Given the description of an element on the screen output the (x, y) to click on. 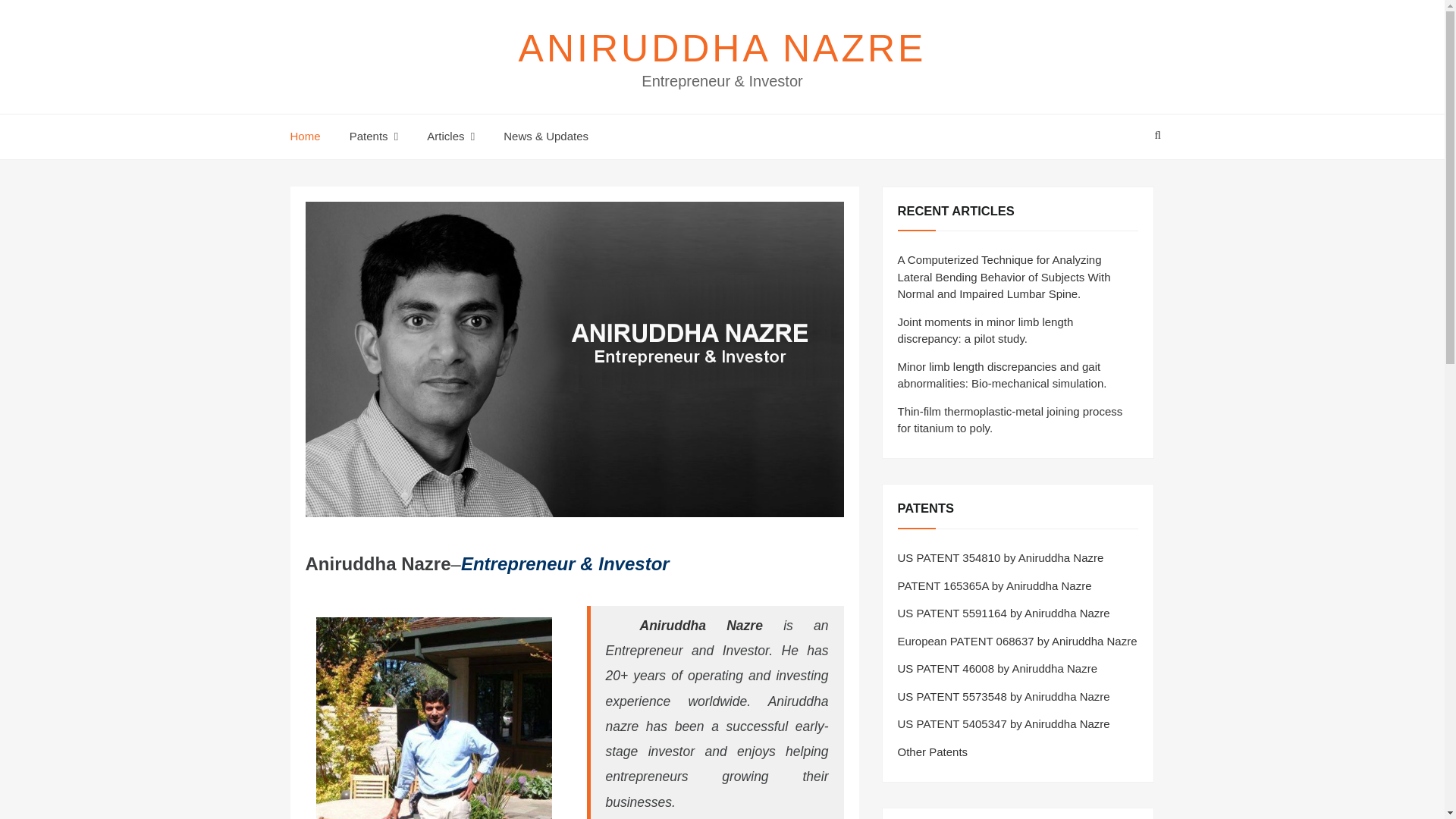
Aniruddha Nazre (701, 625)
ANIRUDDHA NAZRE (722, 48)
Patents (373, 136)
Articles (450, 136)
Home (311, 136)
